Given the description of an element on the screen output the (x, y) to click on. 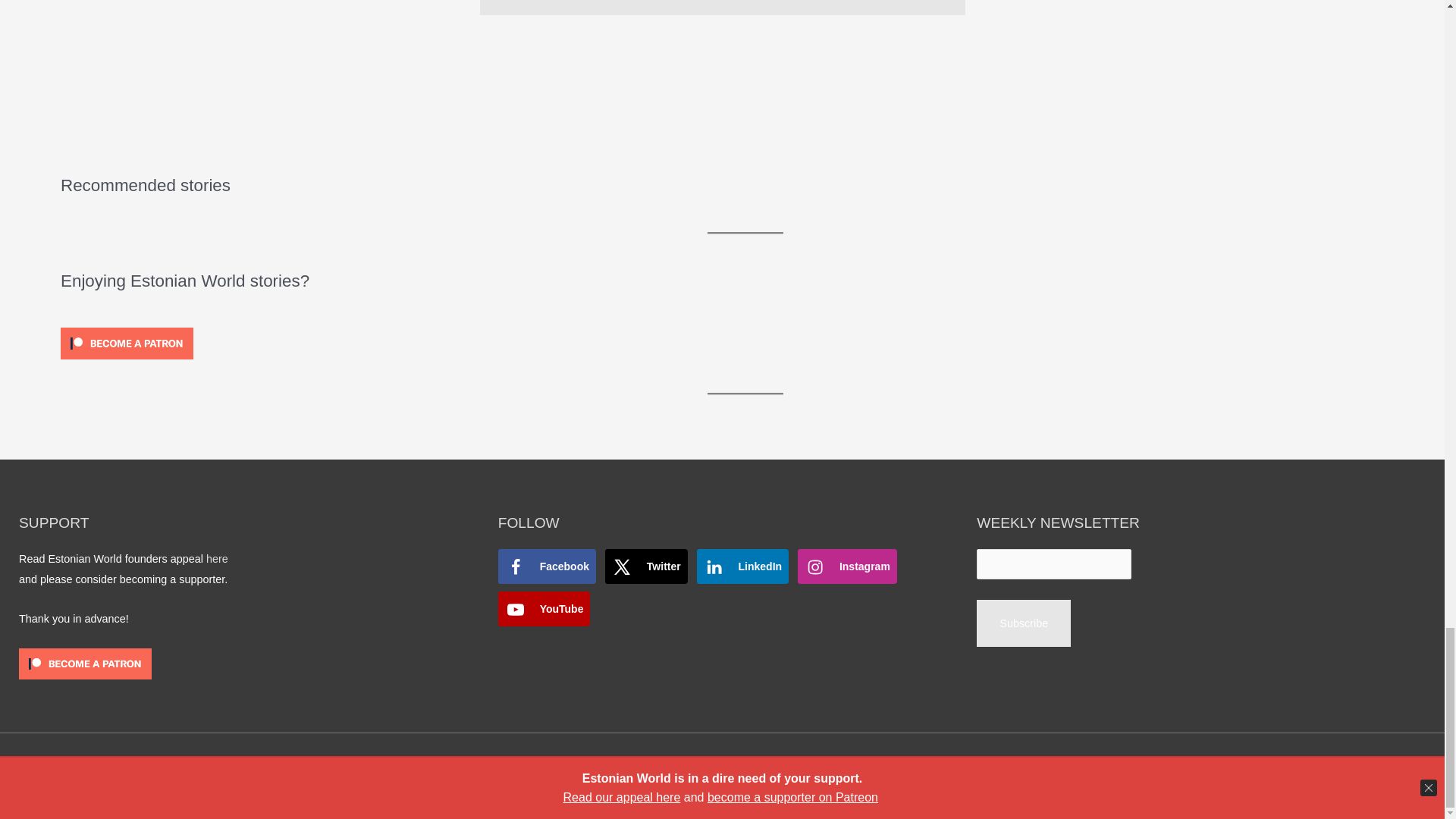
Follow on Facebook (546, 565)
Follow on LinkedIn (743, 565)
Follow on X (646, 565)
Follow on Instagram (846, 565)
Subscribe (1023, 623)
